Given the description of an element on the screen output the (x, y) to click on. 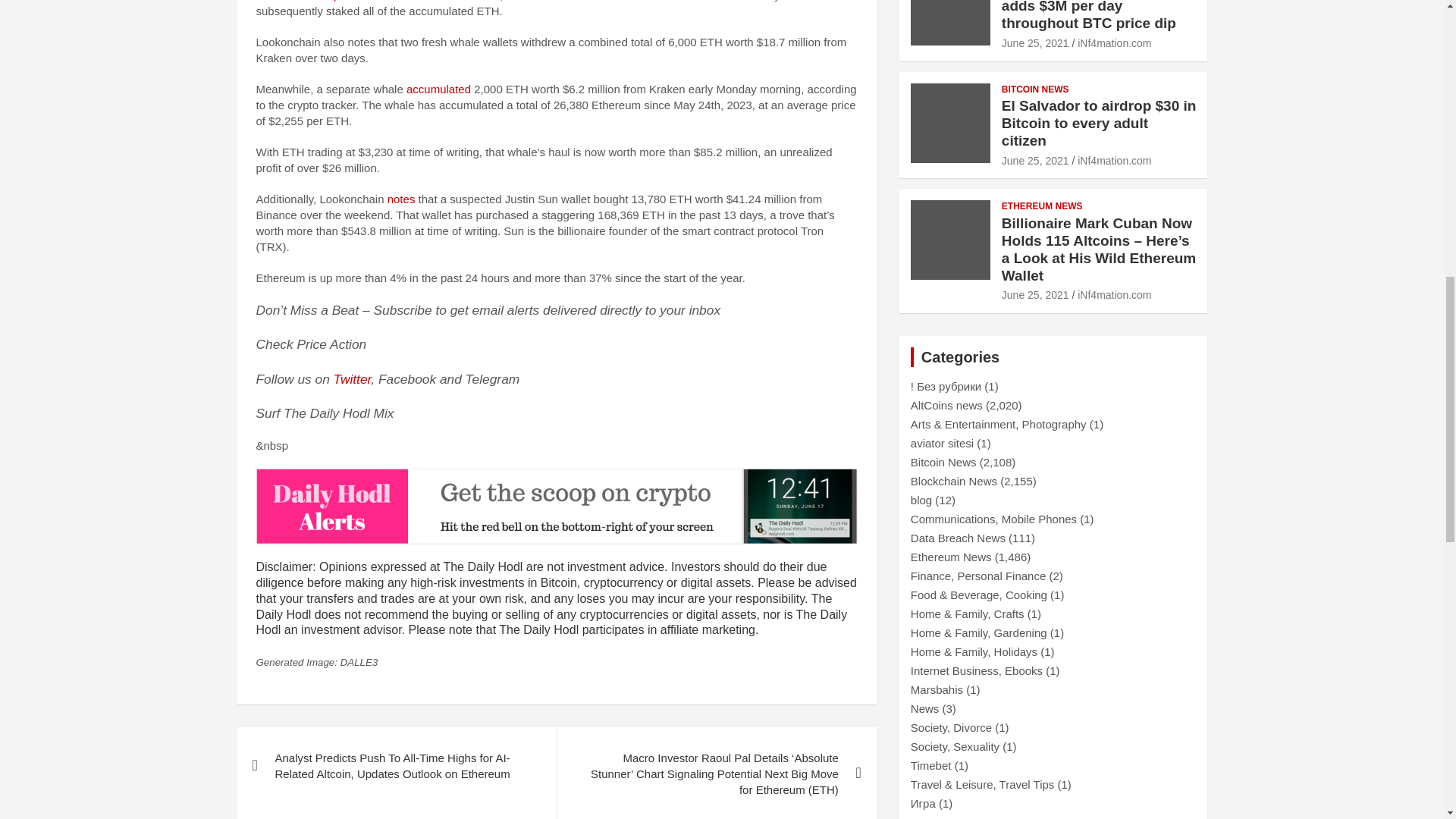
reports (341, 0)
Twitter (352, 378)
accumulated (438, 88)
notes (400, 198)
